Given the description of an element on the screen output the (x, y) to click on. 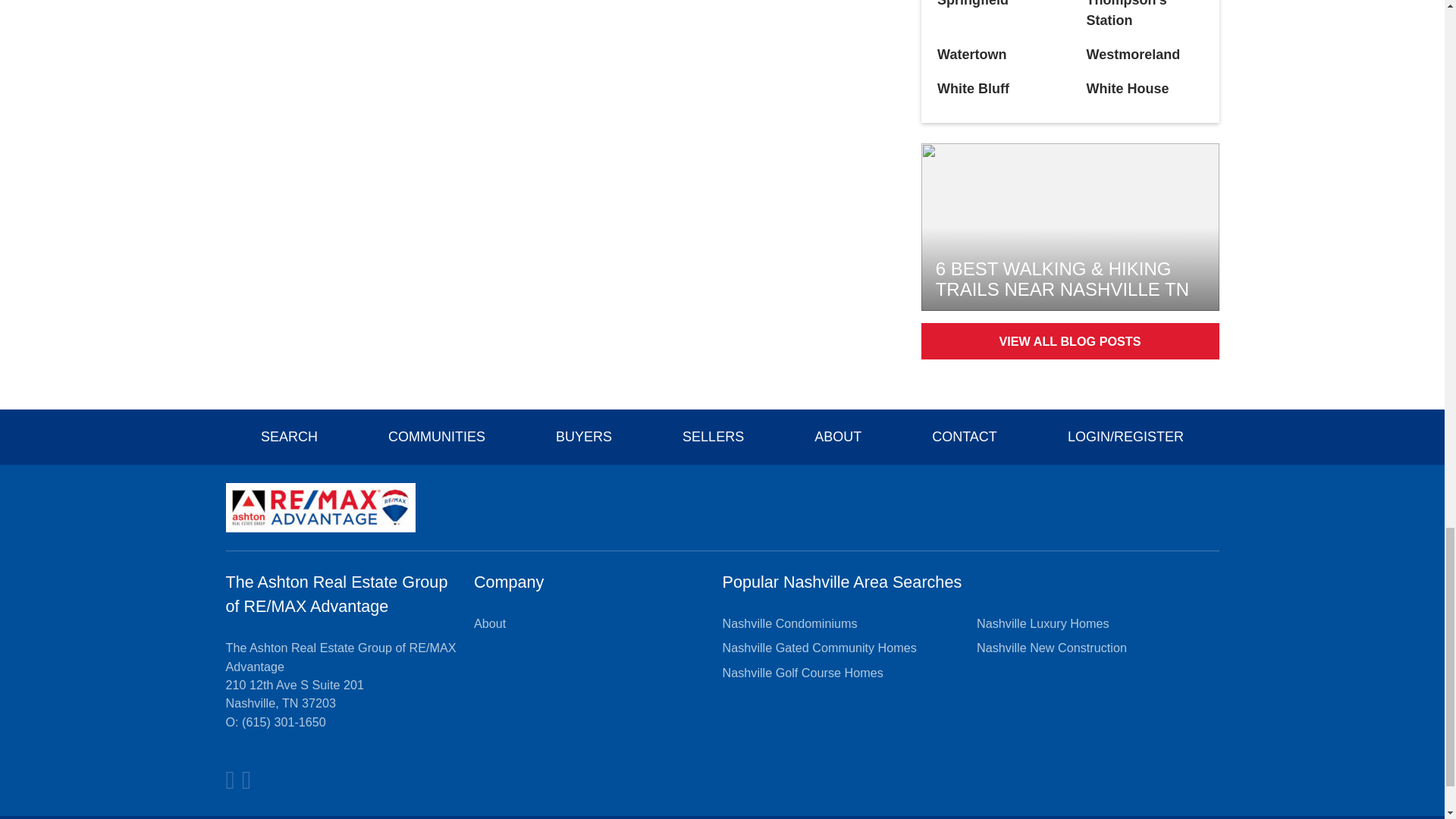
View About (489, 623)
View Nashville Condominiums (789, 623)
View Nashville Gated Community Homes (818, 647)
Home Page (319, 506)
